Given the description of an element on the screen output the (x, y) to click on. 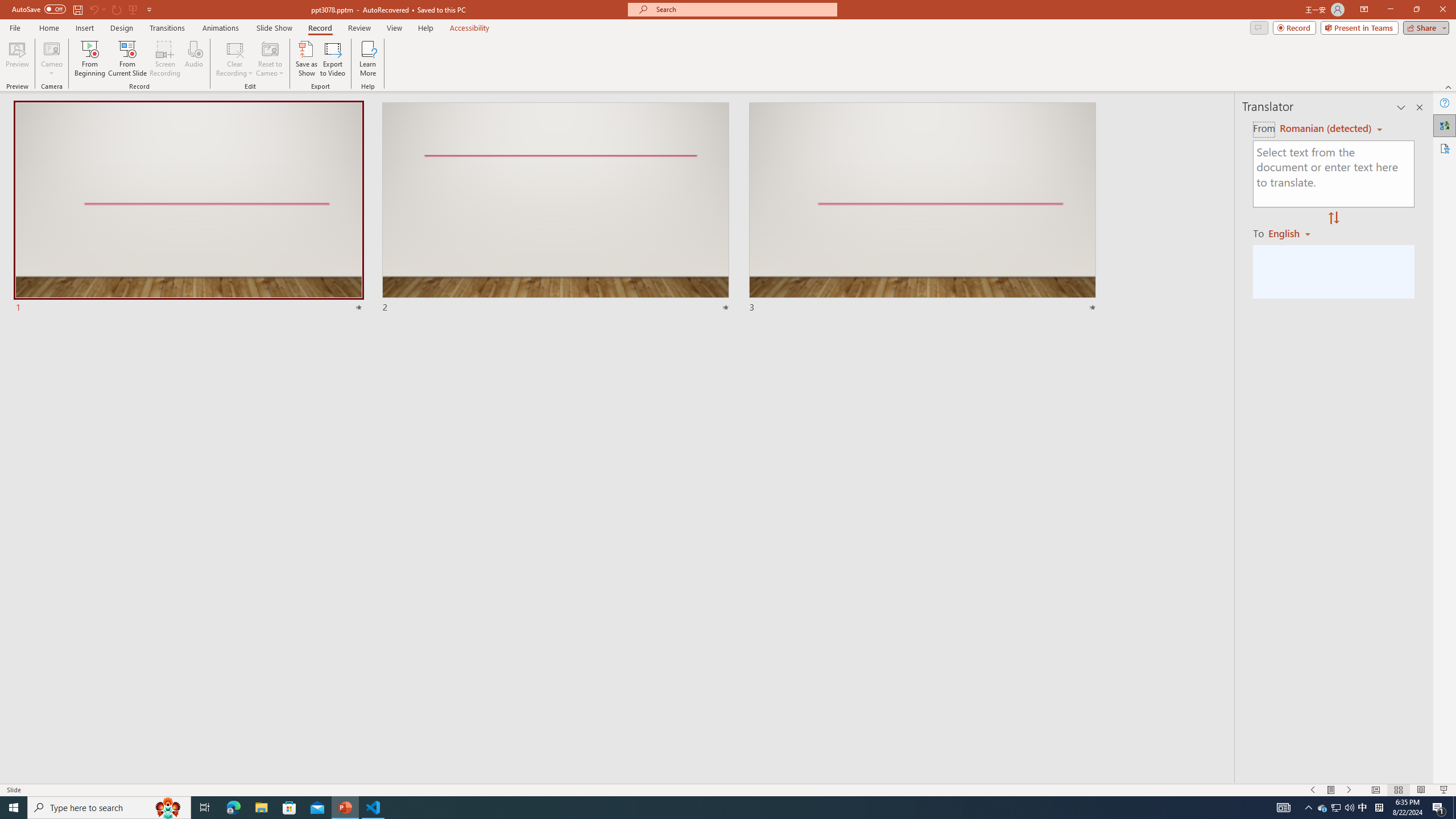
Save as Show (306, 58)
